Given the description of an element on the screen output the (x, y) to click on. 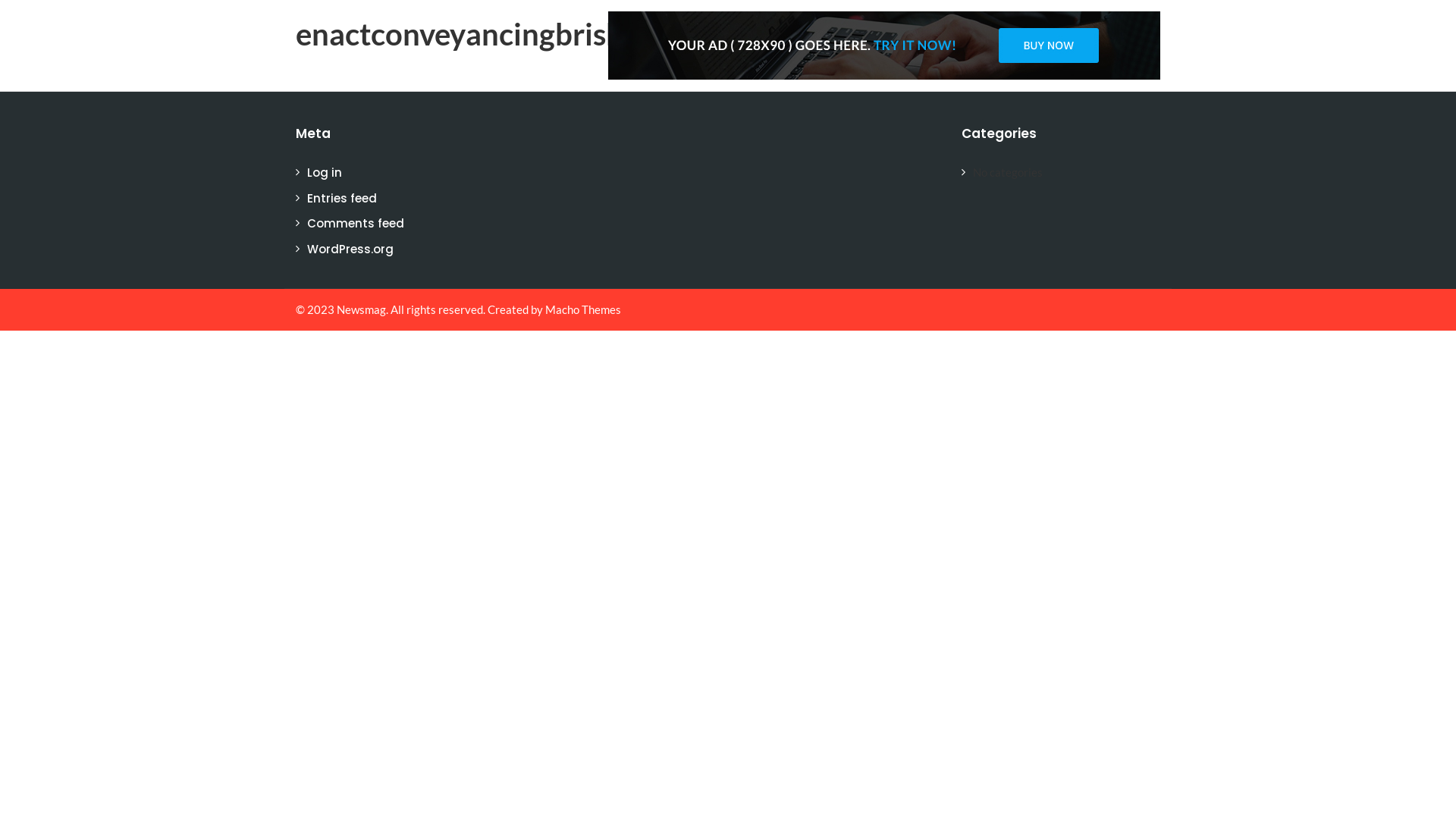
Log in Element type: text (324, 172)
Comments feed Element type: text (355, 223)
enactconveyancingbrisbane.com.au Element type: text (536, 33)
WordPress.org Element type: text (350, 249)
Macho Themes Element type: text (583, 309)
Newsmag Element type: text (360, 309)
Entries feed Element type: text (341, 197)
